Given the description of an element on the screen output the (x, y) to click on. 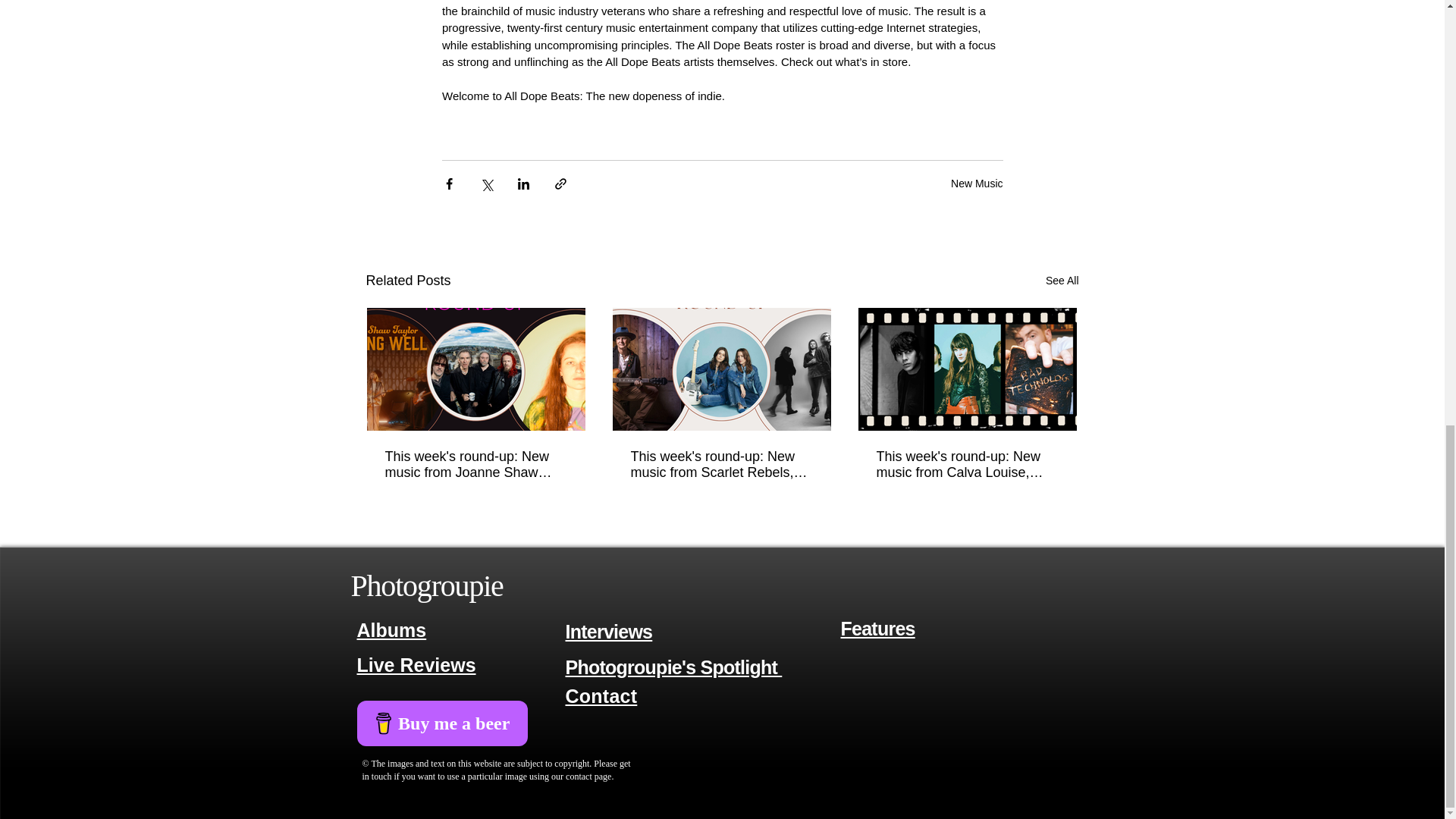
Interviews (609, 631)
See All (1061, 280)
Contact (601, 696)
Photogroupie's Spotlight  (674, 667)
Live Reviews (416, 665)
Photogroupie (426, 585)
Albums (391, 629)
New Music (976, 182)
Embedded Content (482, 736)
